Given the description of an element on the screen output the (x, y) to click on. 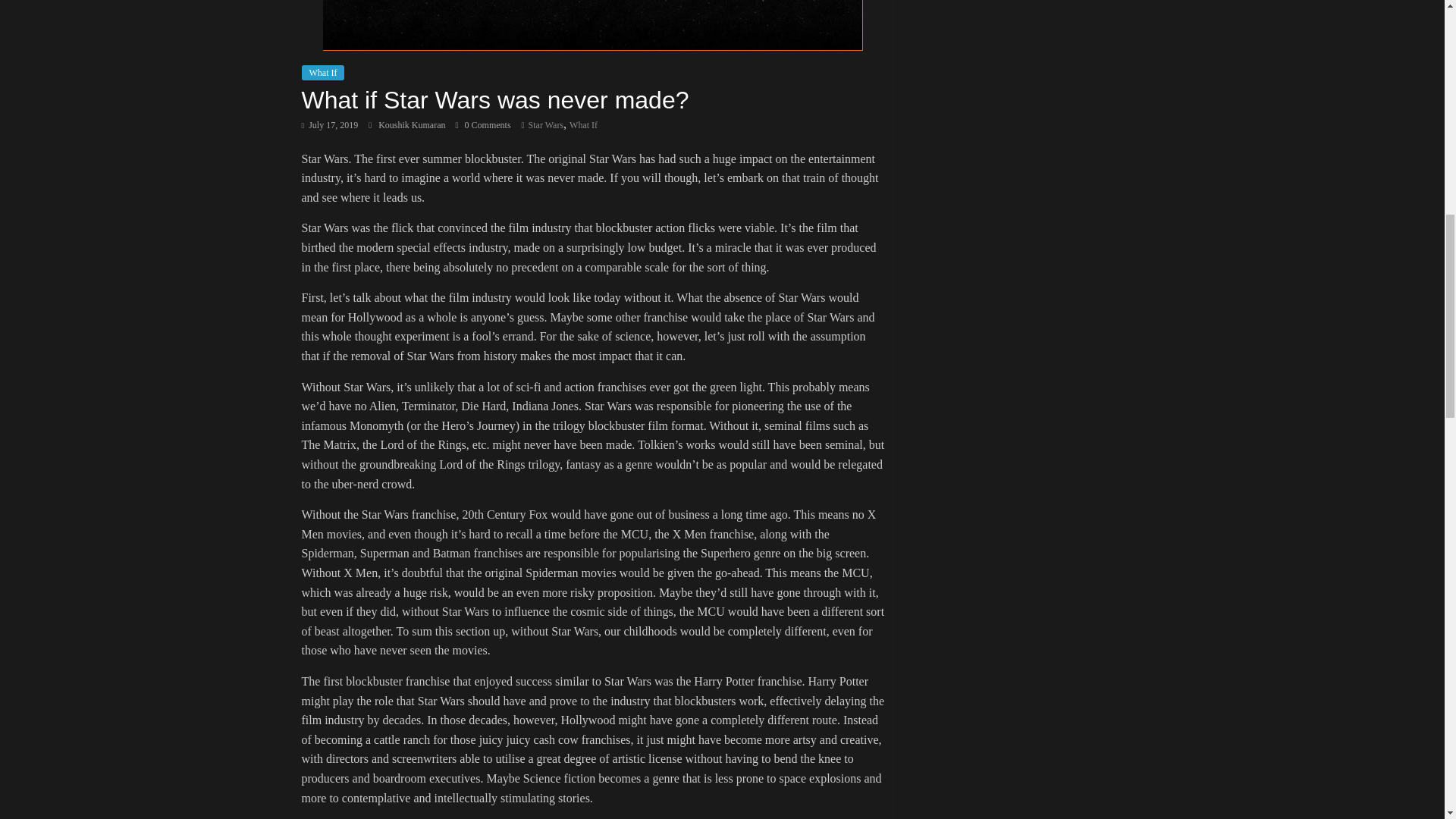
Koushik Kumaran (412, 124)
8:05 pm (329, 124)
